Given the description of an element on the screen output the (x, y) to click on. 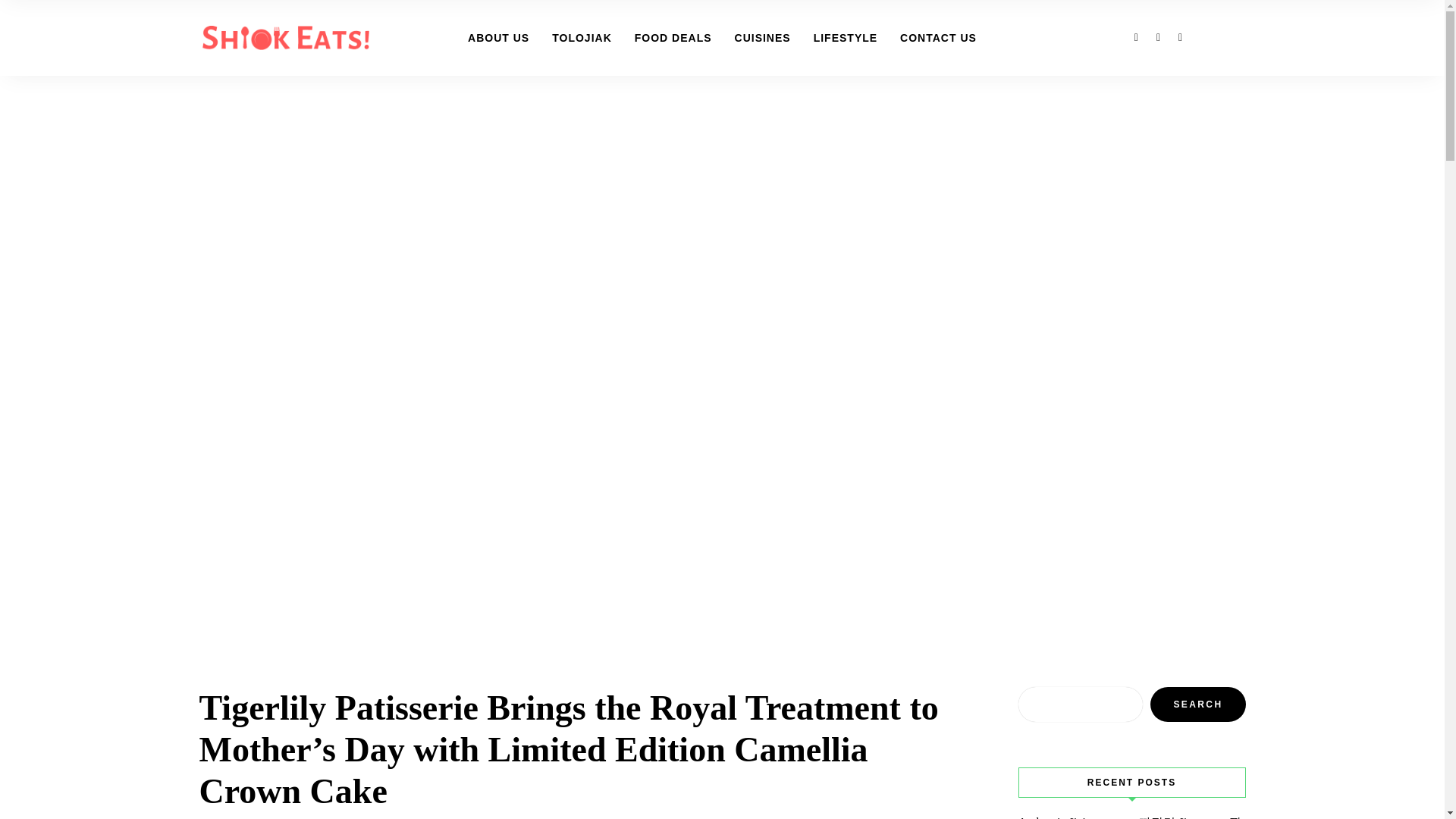
tiktok (1180, 36)
instagram (1158, 36)
LIFESTYLE (845, 38)
TOLOJIAK (581, 38)
FOOD DEALS (673, 38)
ABOUT US (498, 38)
CONTACT US (938, 38)
facebook (1136, 36)
CUISINES (762, 38)
